Given the description of an element on the screen output the (x, y) to click on. 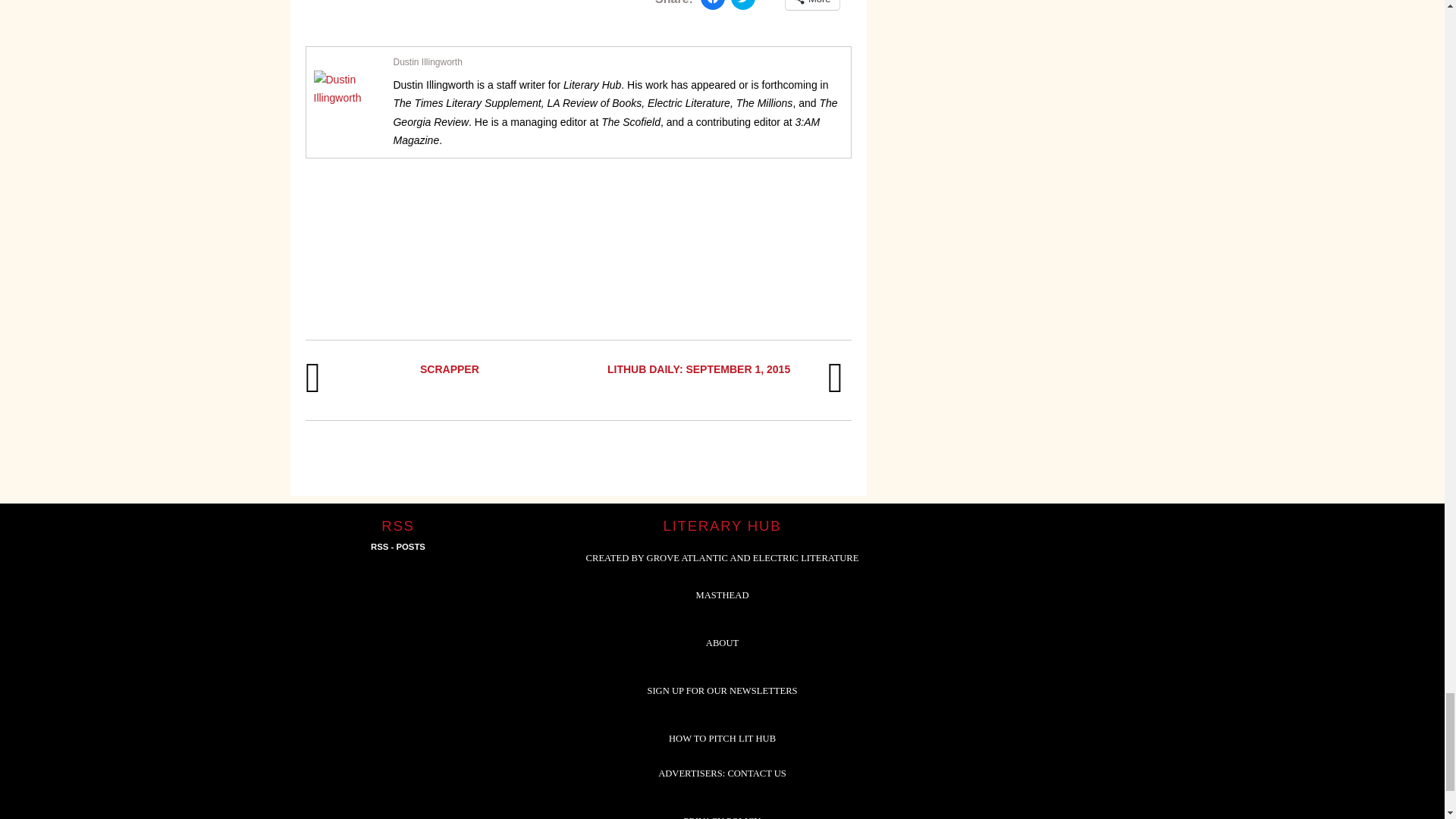
Share on Facebook (712, 4)
Click to share on Twitter (742, 4)
